Given the description of an element on the screen output the (x, y) to click on. 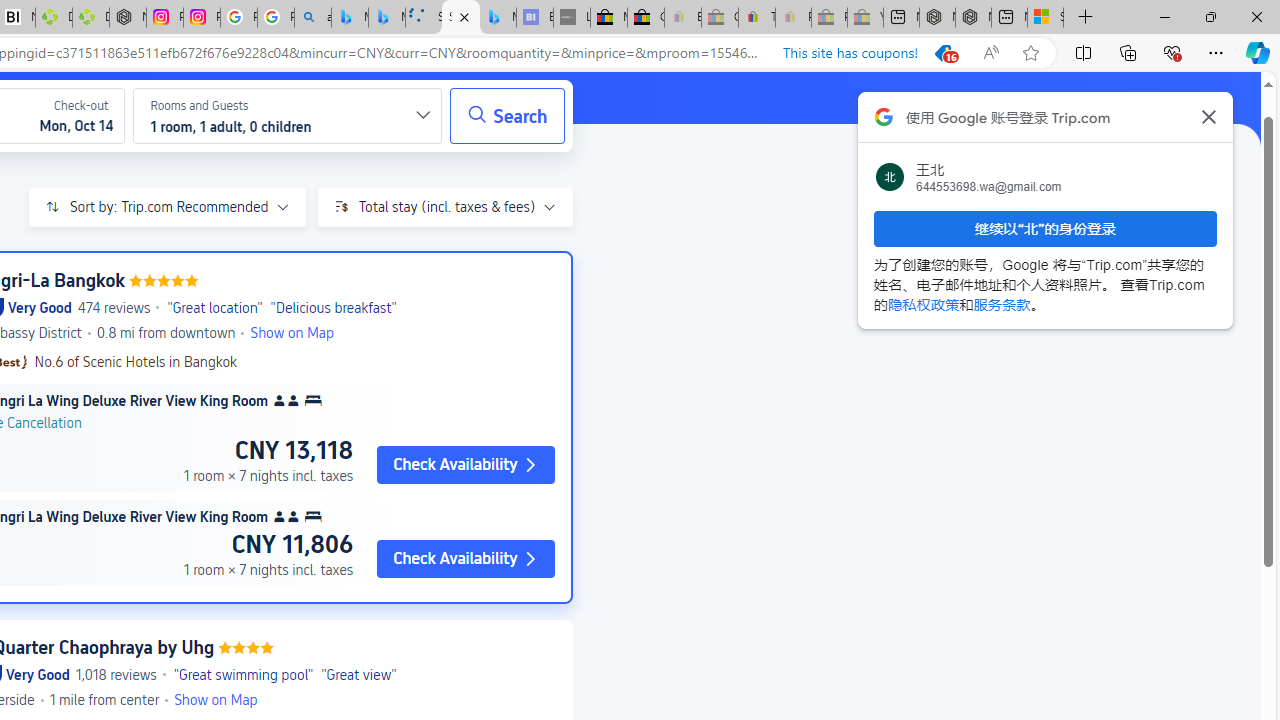
Check-out (68, 115)
Microsoft Bing Travel - Shangri-La Hotel Bangkok (497, 17)
This site has coupons! Shopping in Microsoft Edge, 16 (870, 53)
